Given the description of an element on the screen output the (x, y) to click on. 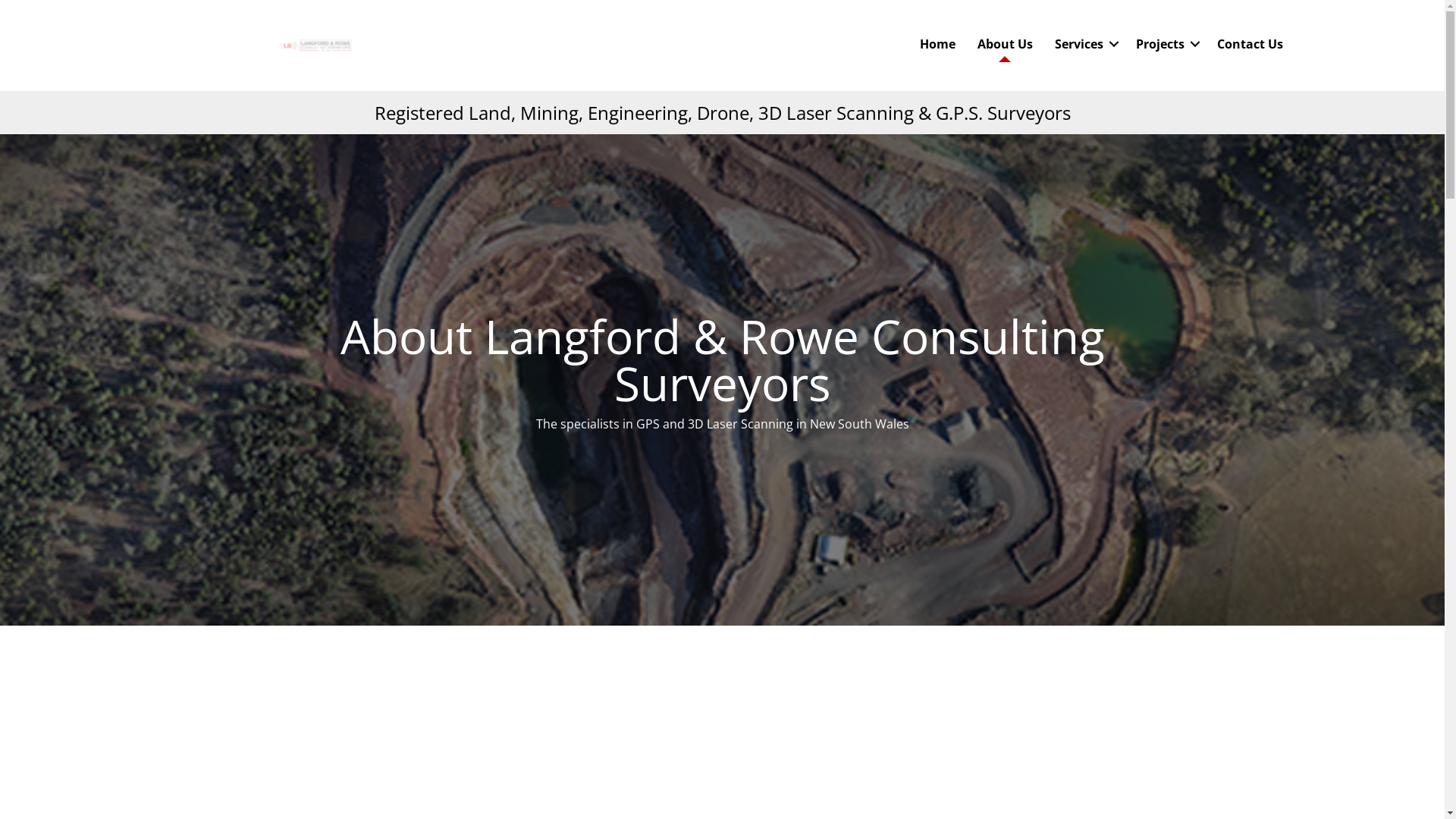
Contact Us Element type: text (1249, 43)
About Us Element type: text (1004, 43)
Projects Element type: text (1165, 43)
Services Element type: text (1084, 43)
Home Element type: text (937, 43)
